Given the description of an element on the screen output the (x, y) to click on. 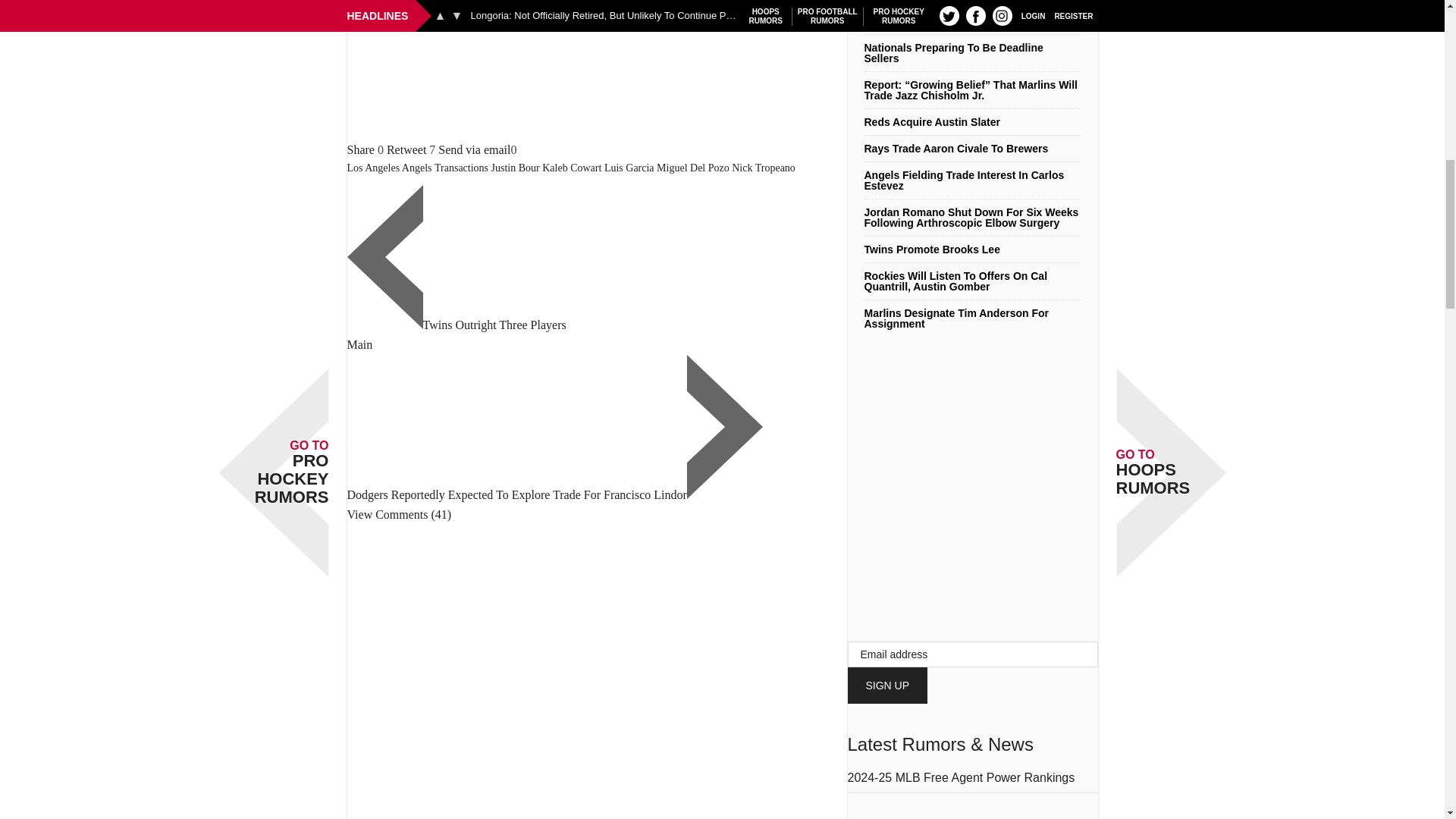
Send Angels Outright Five Players with an email (474, 149)
3rd party ad content (597, 70)
Sign Up (887, 685)
Share 'Angels Outright Five Players' on Facebook (360, 149)
Retweet 'Angels Outright Five Players' on Twitter (406, 149)
